Given the description of an element on the screen output the (x, y) to click on. 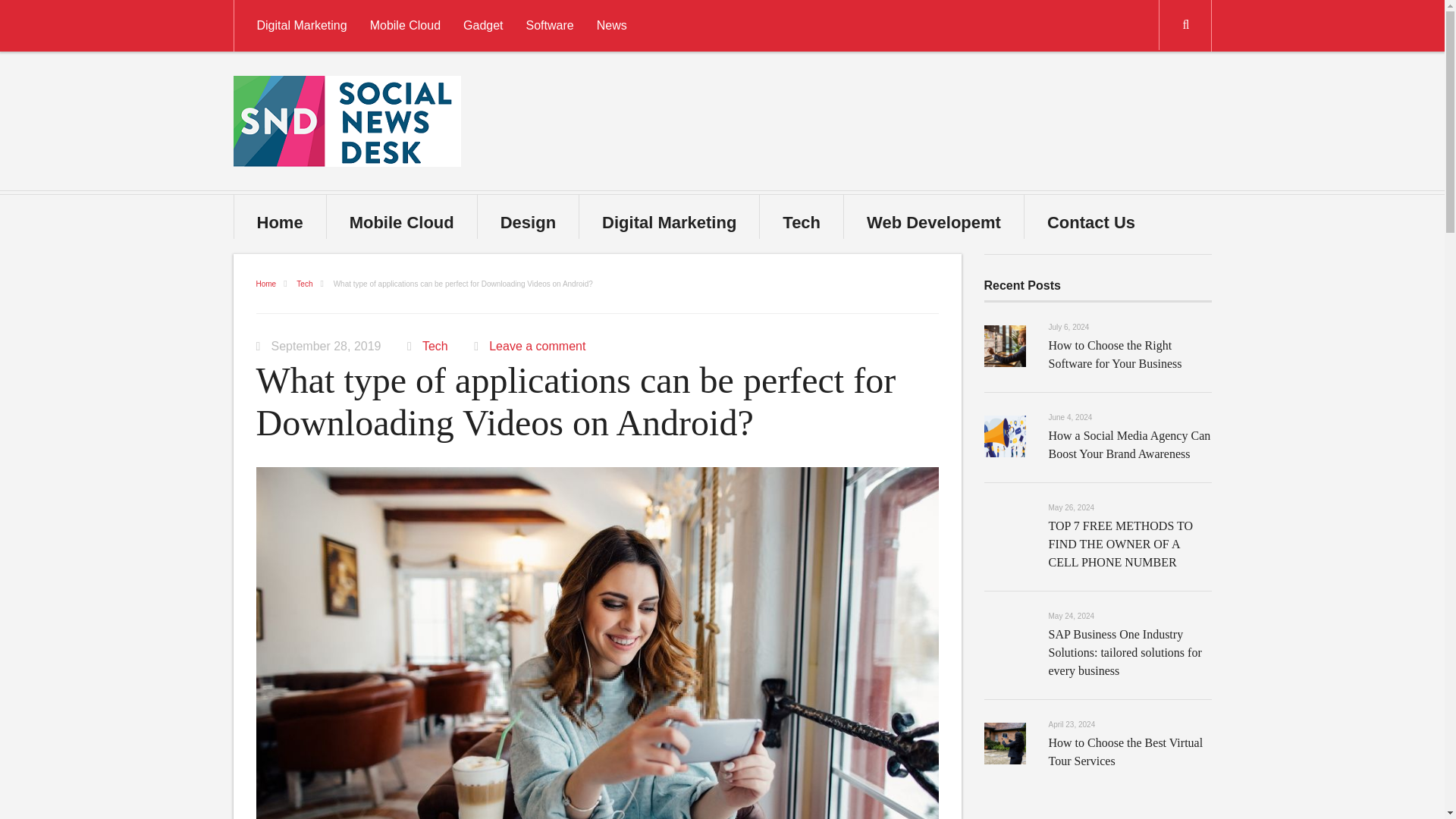
TOP 7 FREE METHODS TO FIND THE OWNER OF A CELL PHONE NUMBER (1120, 543)
How to Choose the Right Software for Your Business (1114, 354)
How to Choose the Best Virtual Tour Services (1125, 751)
How a Social Media Agency Can Boost Your Brand Awareness (1128, 444)
Web Developemt (933, 216)
How a Social Media Agency Can Boost Your Brand Awareness (1128, 444)
Design (527, 216)
Gadget (482, 25)
